Given the description of an element on the screen output the (x, y) to click on. 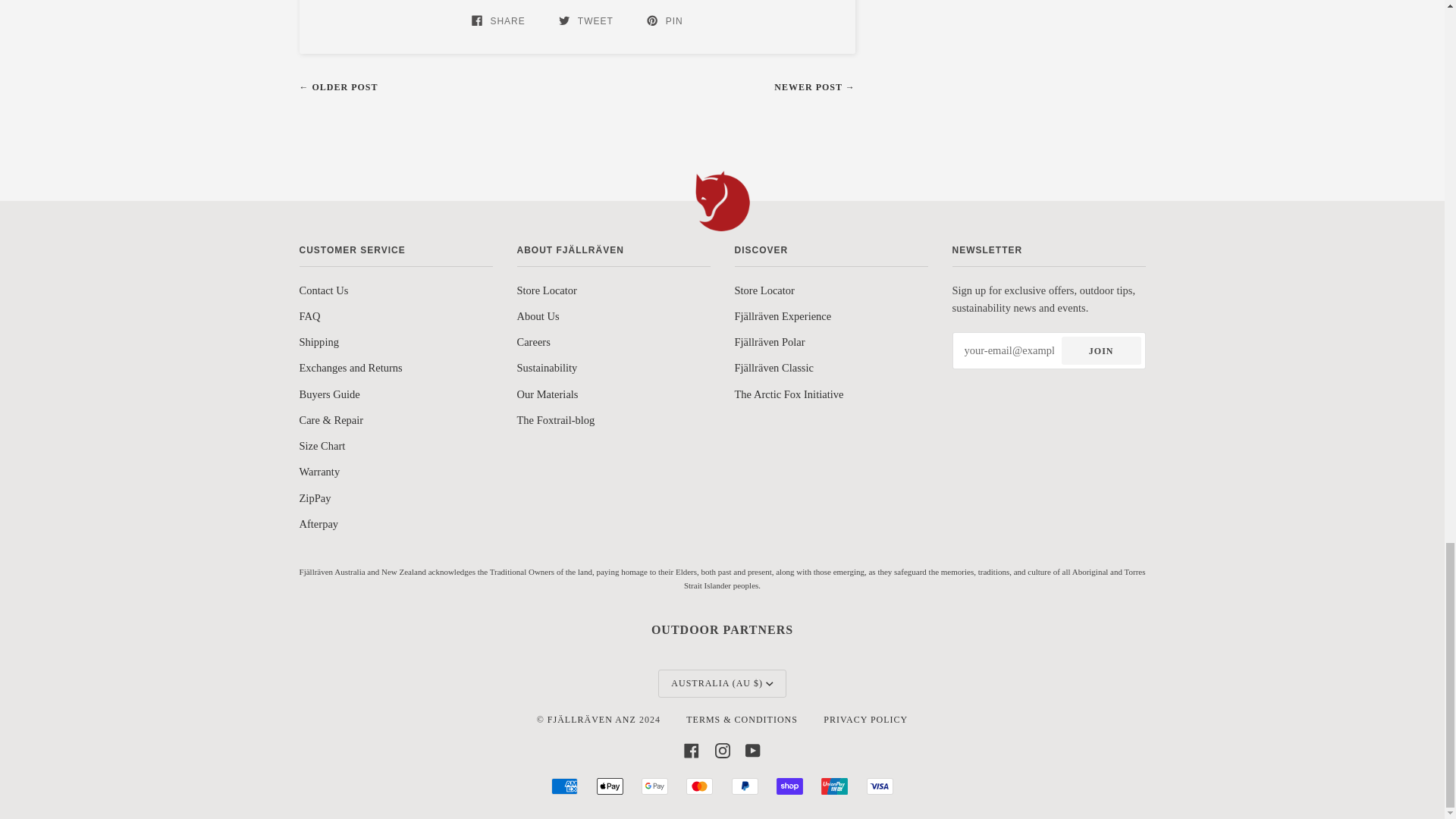
GOOGLE PAY (655, 786)
SHOP PAY (789, 786)
Facebook (691, 750)
PAYPAL (745, 786)
AMERICAN EXPRESS (564, 786)
MASTERCARD (699, 786)
YouTube (752, 750)
APPLE PAY (609, 786)
UNION PAY (834, 786)
Instagram (721, 750)
